Given the description of an element on the screen output the (x, y) to click on. 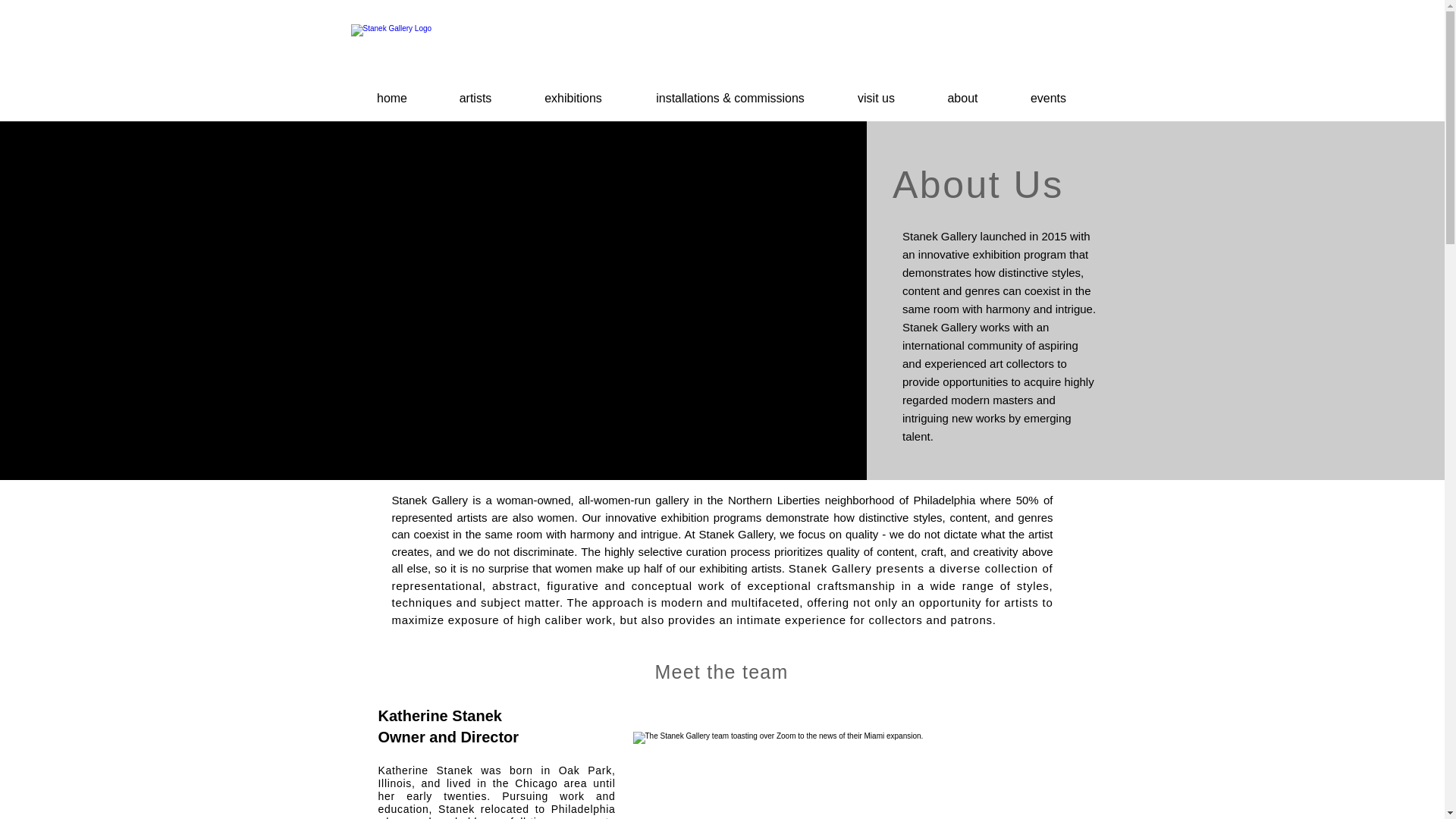
home (391, 98)
stanek gallery.jpg (571, 53)
visit us (875, 98)
events (1048, 98)
